Given the description of an element on the screen output the (x, y) to click on. 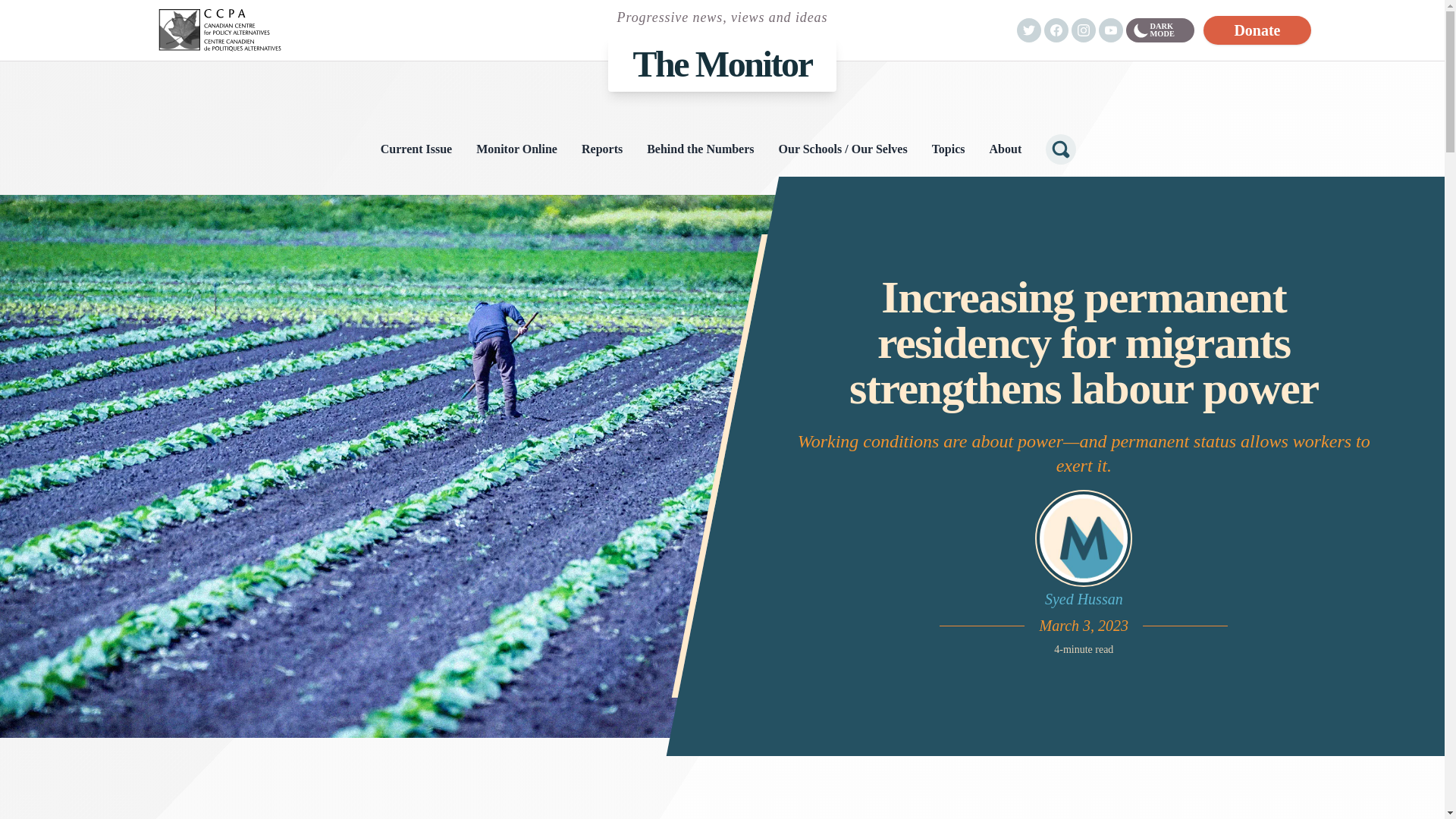
Twitter (1028, 30)
The Monitor (721, 63)
DARK MODE (1159, 30)
Donate (1257, 29)
